Given the description of an element on the screen output the (x, y) to click on. 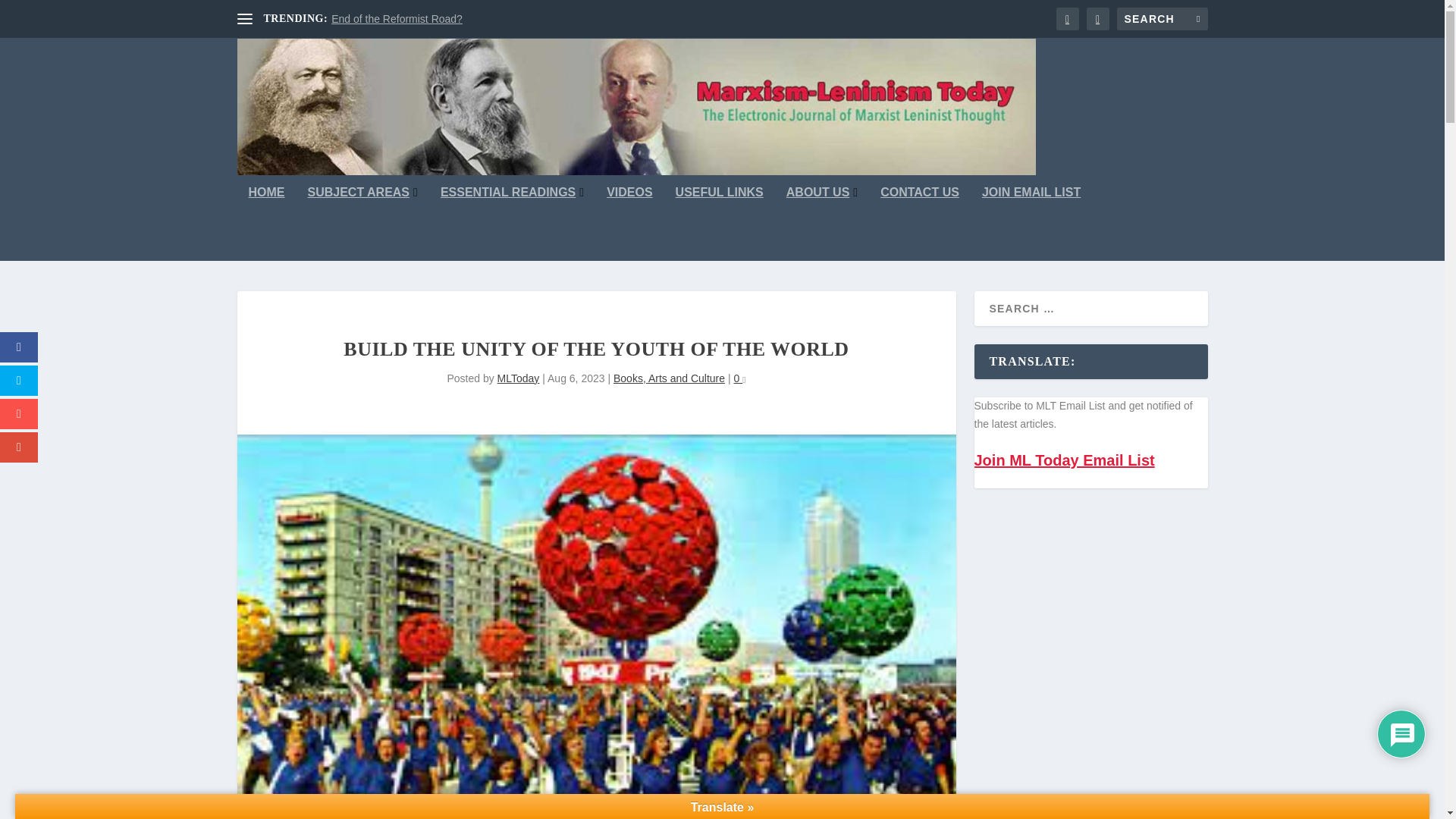
Search for: (1161, 18)
Posts by MLToday (518, 378)
comment count (743, 380)
HOME (266, 223)
End of the Reformist Road? (397, 19)
ABOUT US (821, 223)
USEFUL LINKS (718, 223)
VIDEOS (629, 223)
ESSENTIAL READINGS (512, 223)
SUBJECT AREAS (362, 223)
